Given the description of an element on the screen output the (x, y) to click on. 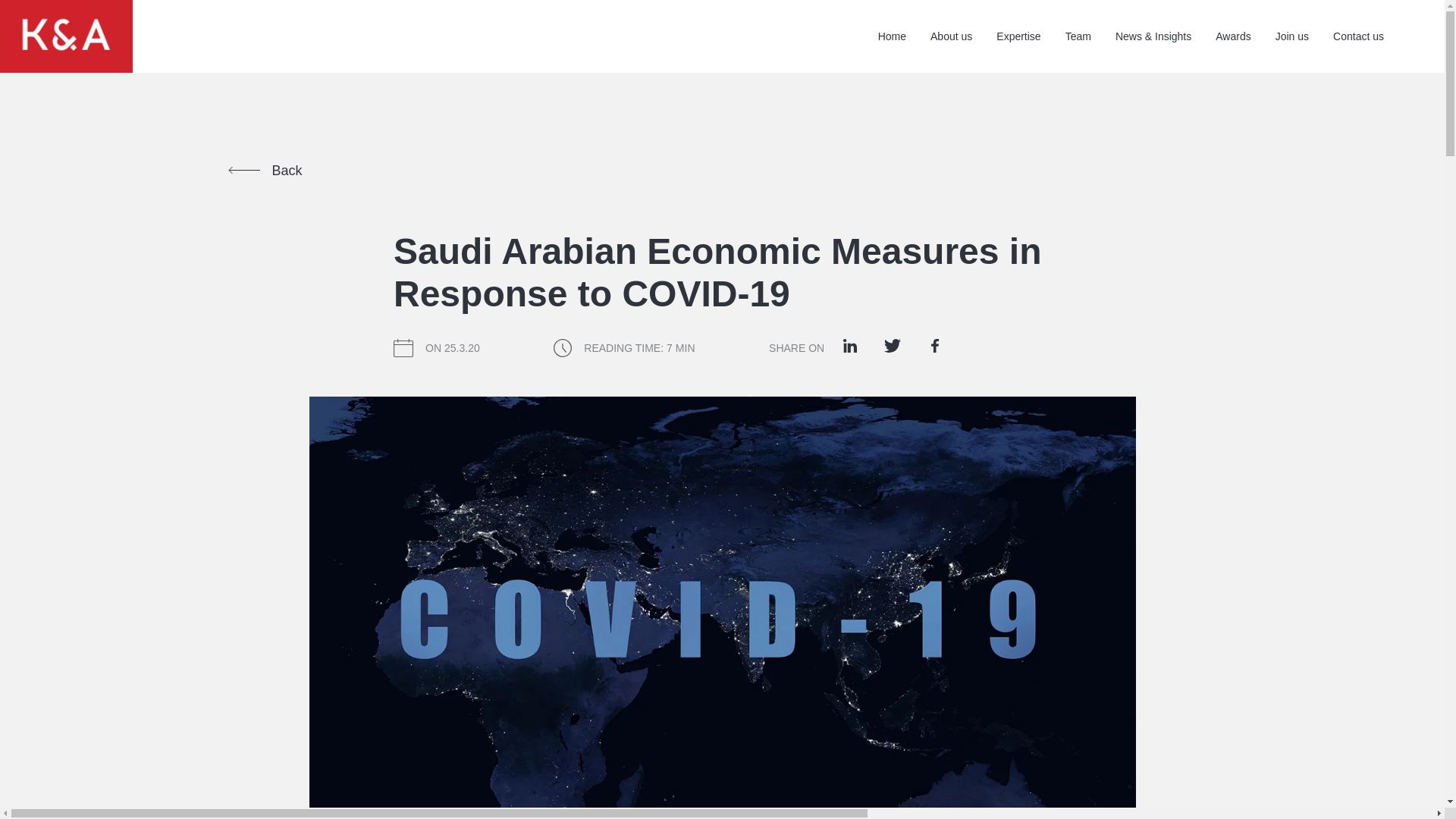
Awards (1232, 36)
Contact us (1358, 36)
Expertise (1018, 36)
Home (891, 36)
About us (951, 36)
Team (1077, 36)
Join us (1291, 36)
Share on Facebook (935, 345)
Back (263, 170)
Tweet (892, 345)
Share on LinkedIn (849, 345)
